Given the description of an element on the screen output the (x, y) to click on. 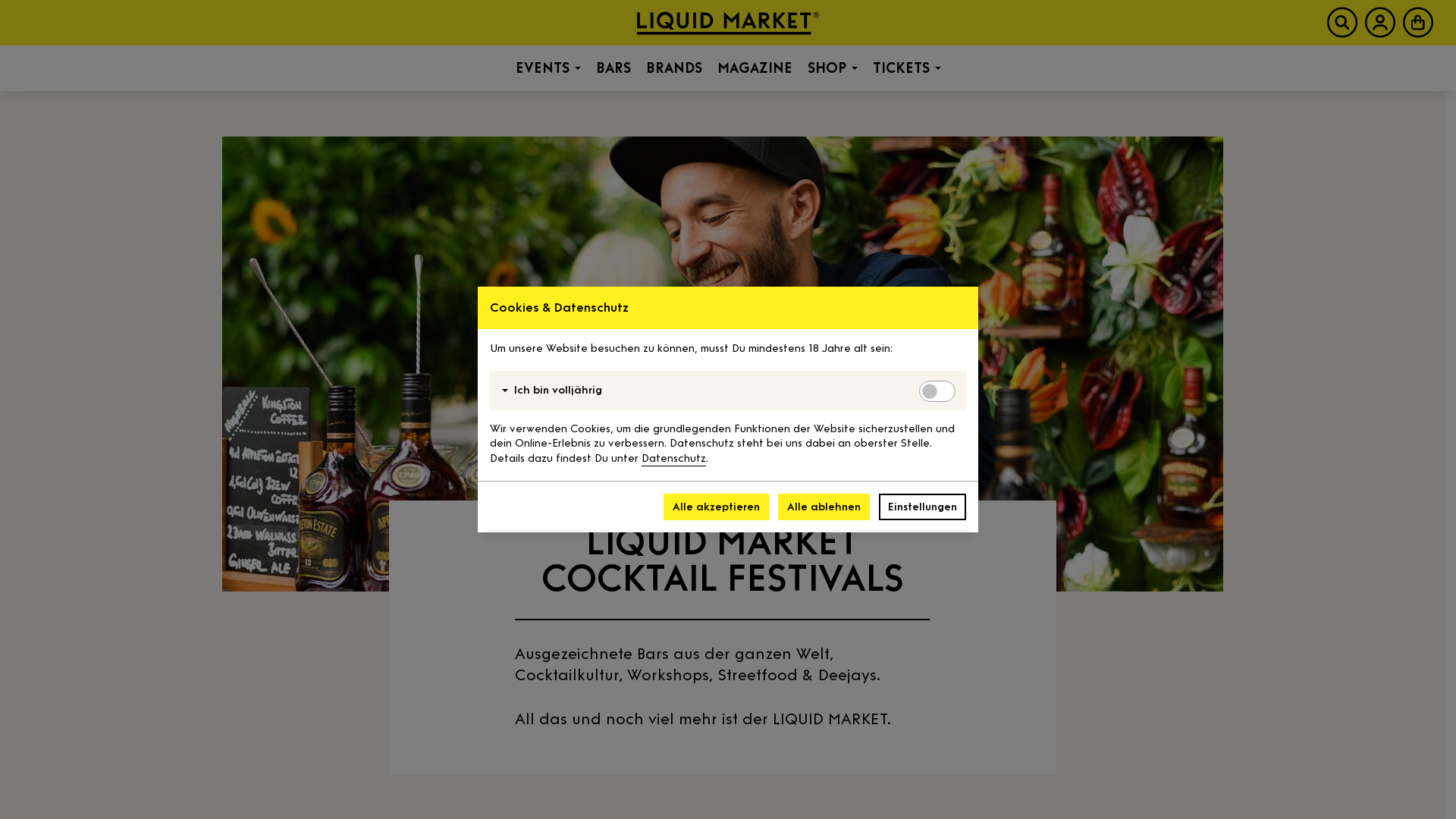
BRANDS Element type: text (674, 68)
Alle ablehnen Element type: text (823, 506)
SHOP Element type: text (831, 68)
BARS Element type: text (613, 68)
Einstellungen Element type: text (922, 506)
EVENTS Element type: text (547, 68)
MAGAZINE Element type: text (754, 68)
TICKETS Element type: text (906, 68)
Datenschutz Element type: text (673, 457)
Alle akzeptieren Element type: text (715, 506)
